Given the description of an element on the screen output the (x, y) to click on. 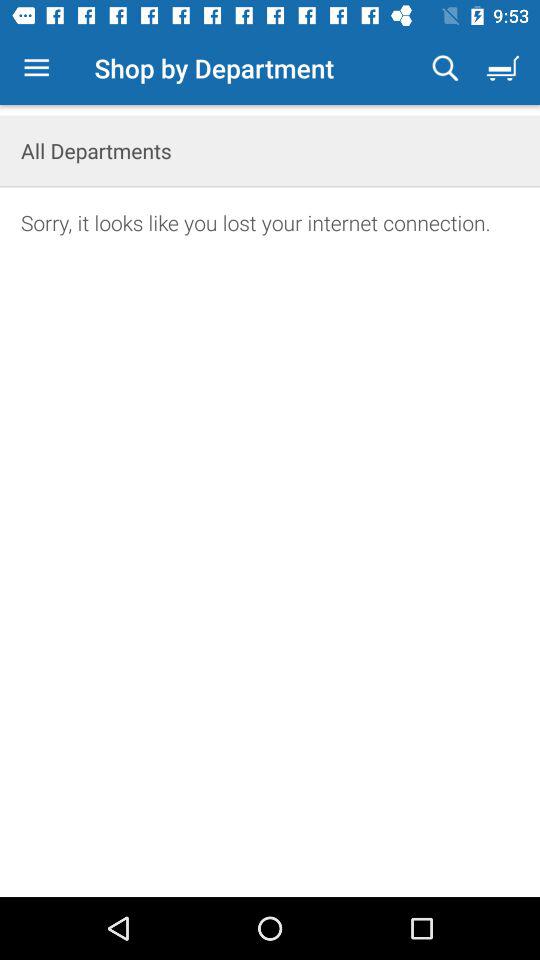
tap icon above the all departments (445, 68)
